Given the description of an element on the screen output the (x, y) to click on. 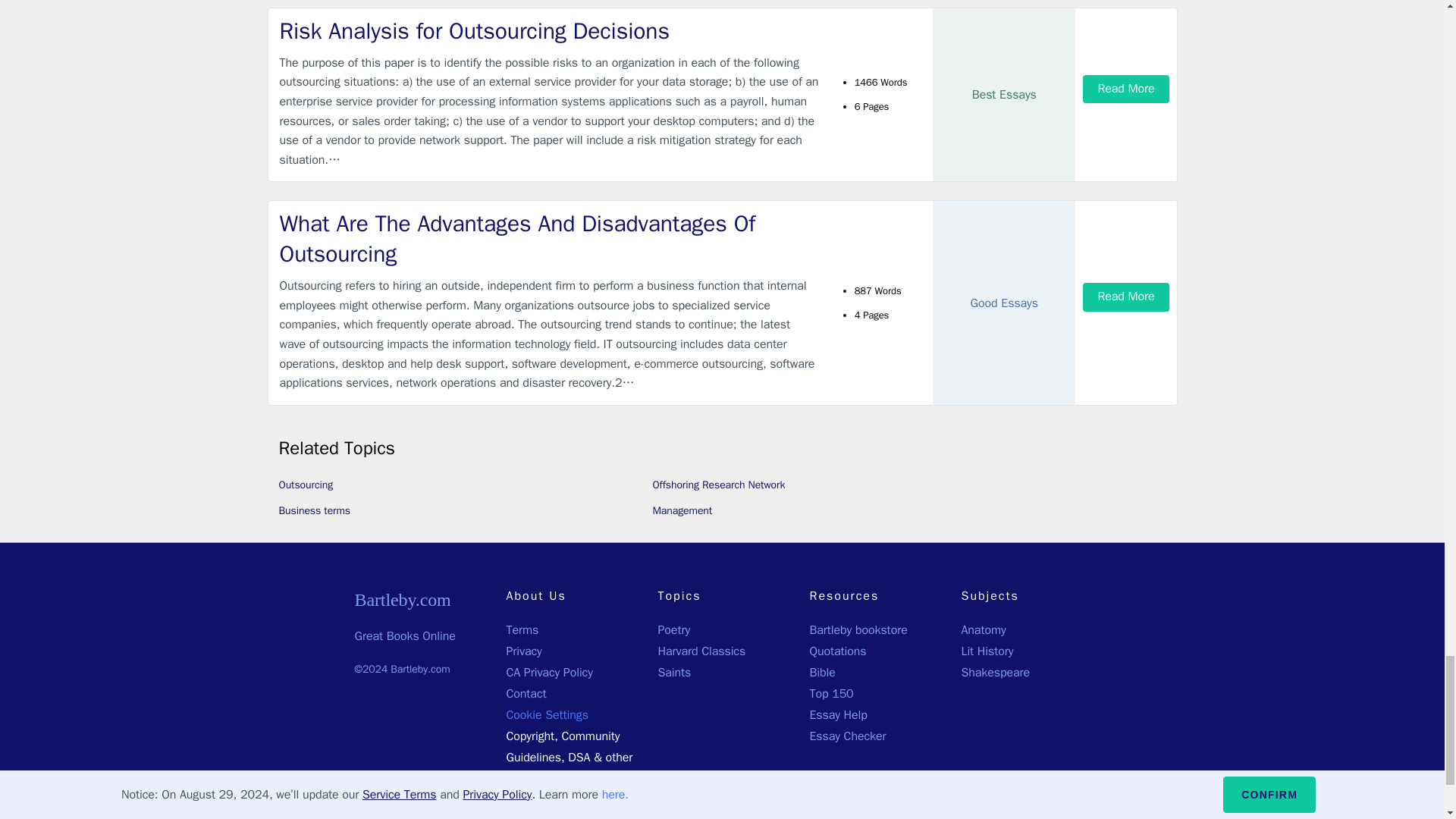
Offshoring Research Network (718, 484)
Management (681, 510)
Business terms (314, 510)
Outsourcing (306, 484)
